Given the description of an element on the screen output the (x, y) to click on. 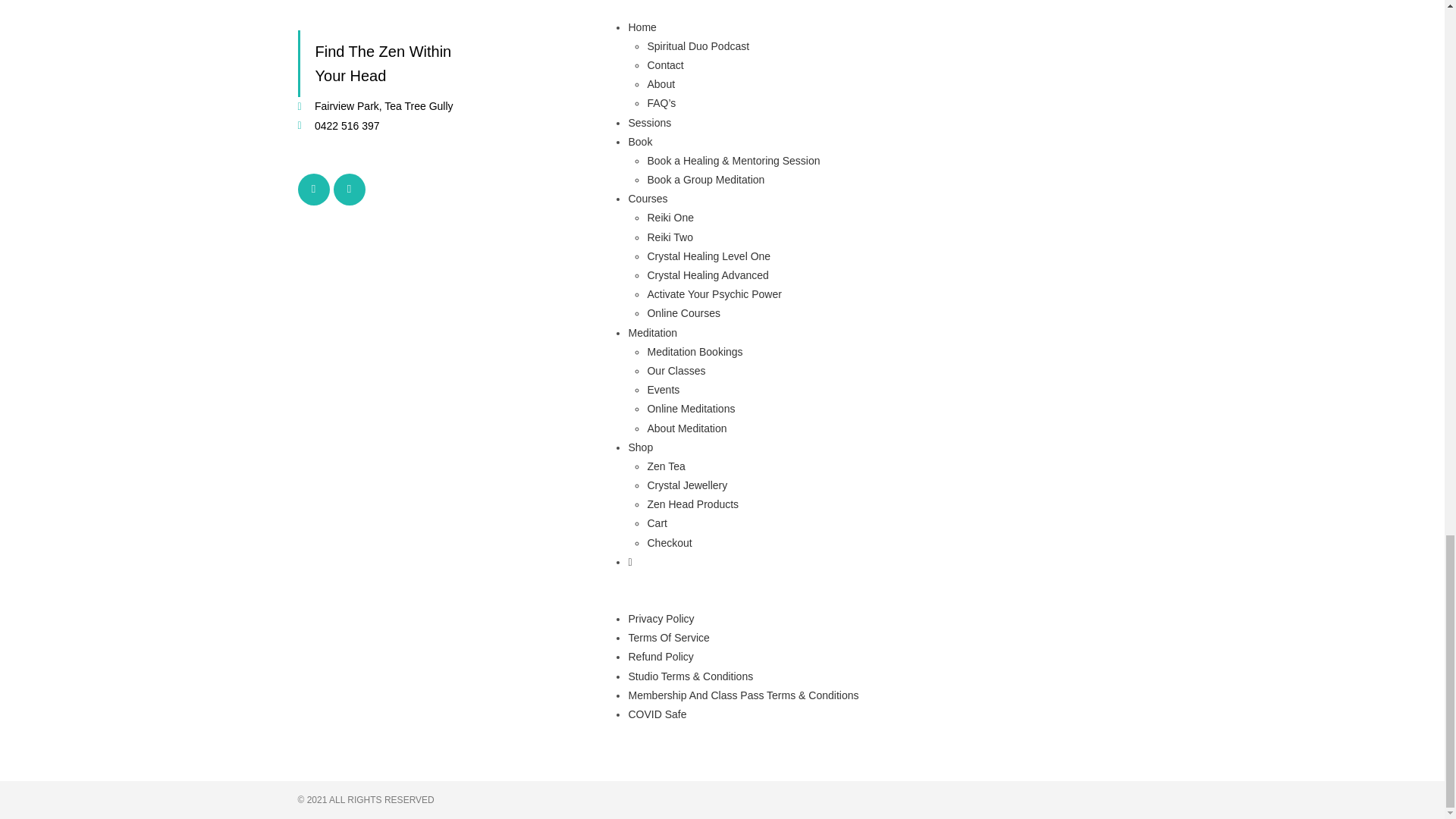
fairview green, (1010, 102)
